Given the description of an element on the screen output the (x, y) to click on. 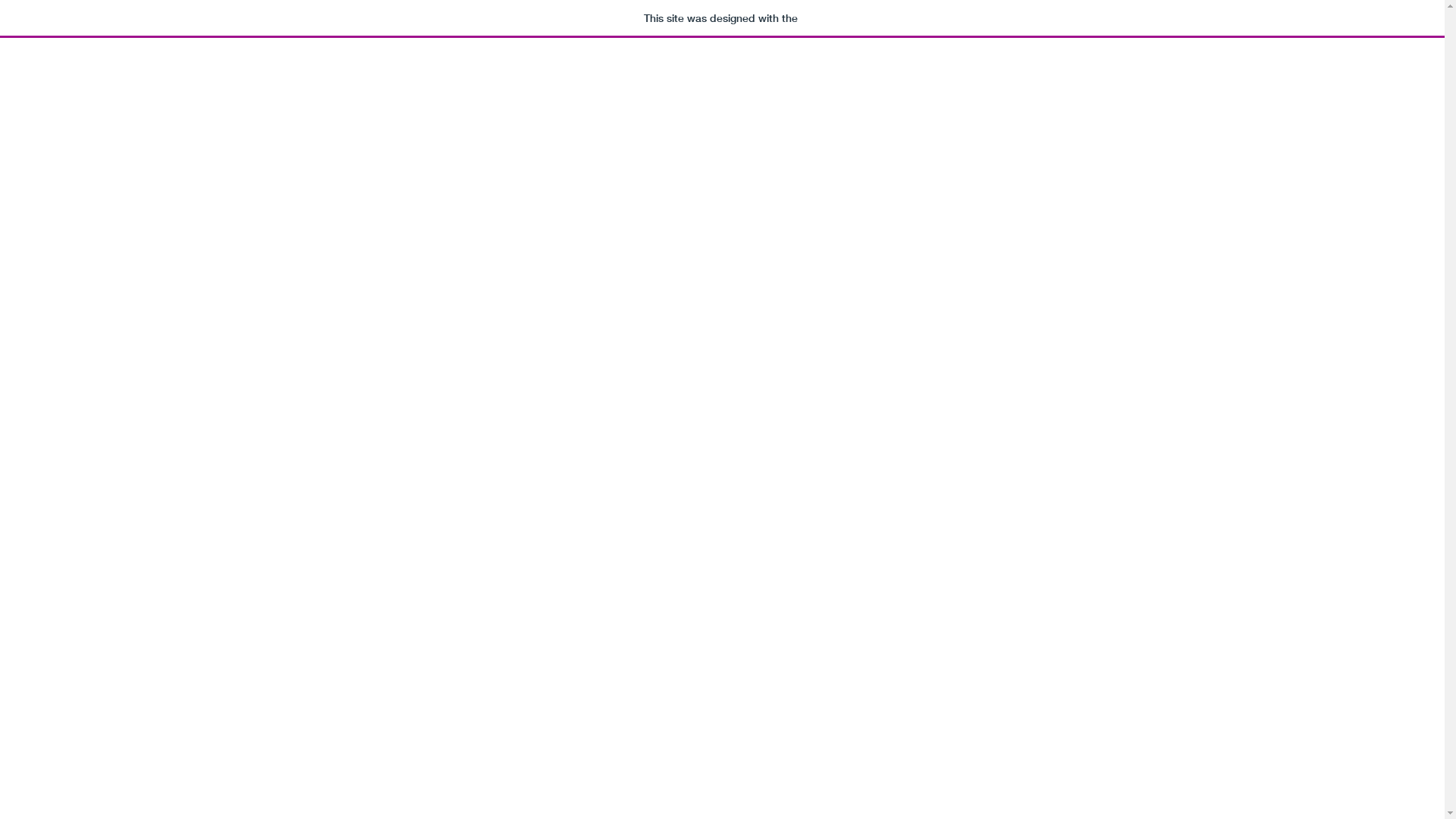
This site was designed with the Element type: text (722, 18)
